Given the description of an element on the screen output the (x, y) to click on. 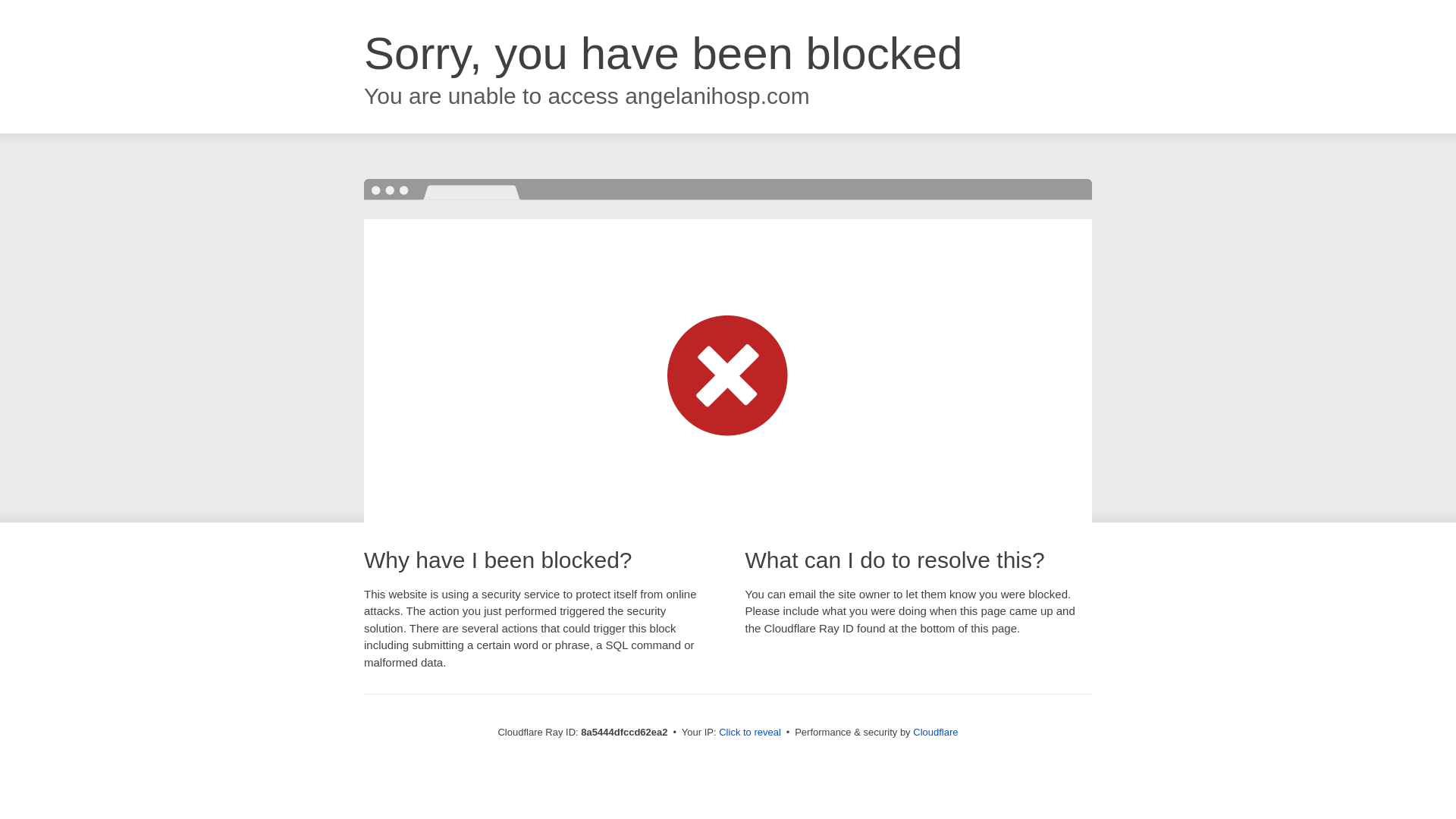
Cloudflare (935, 731)
Click to reveal (749, 732)
